Given the description of an element on the screen output the (x, y) to click on. 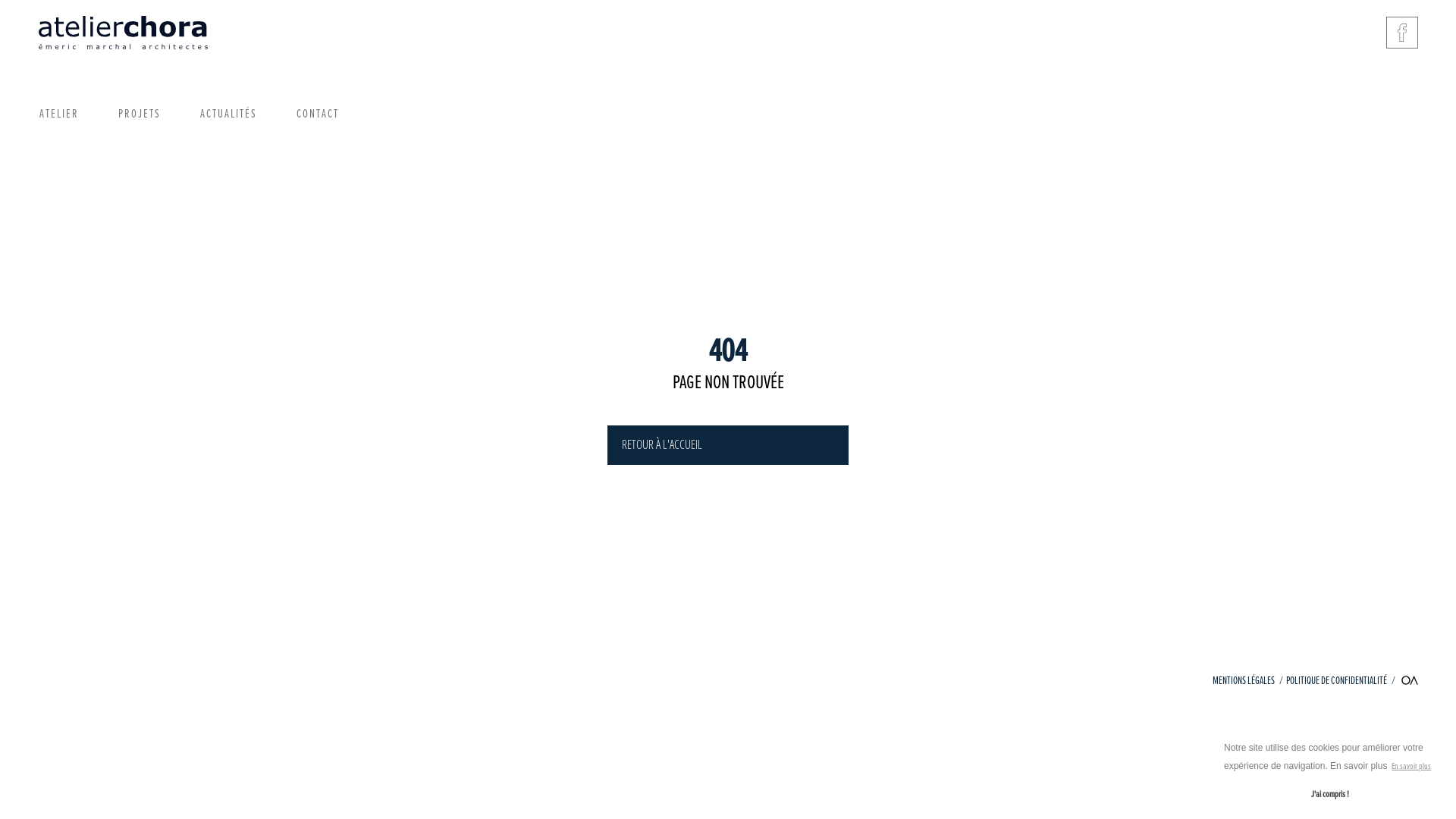
PROJETS Element type: text (139, 114)
J'ai compris ! Element type: text (1329, 794)
CONTACT Element type: text (317, 114)
Vers la page d'Accueil Element type: hover (122, 32)
En savoir plus Element type: text (1411, 766)
ATELIER Element type: text (58, 114)
Vers la page Facebook Element type: hover (1402, 32)
